Given the description of an element on the screen output the (x, y) to click on. 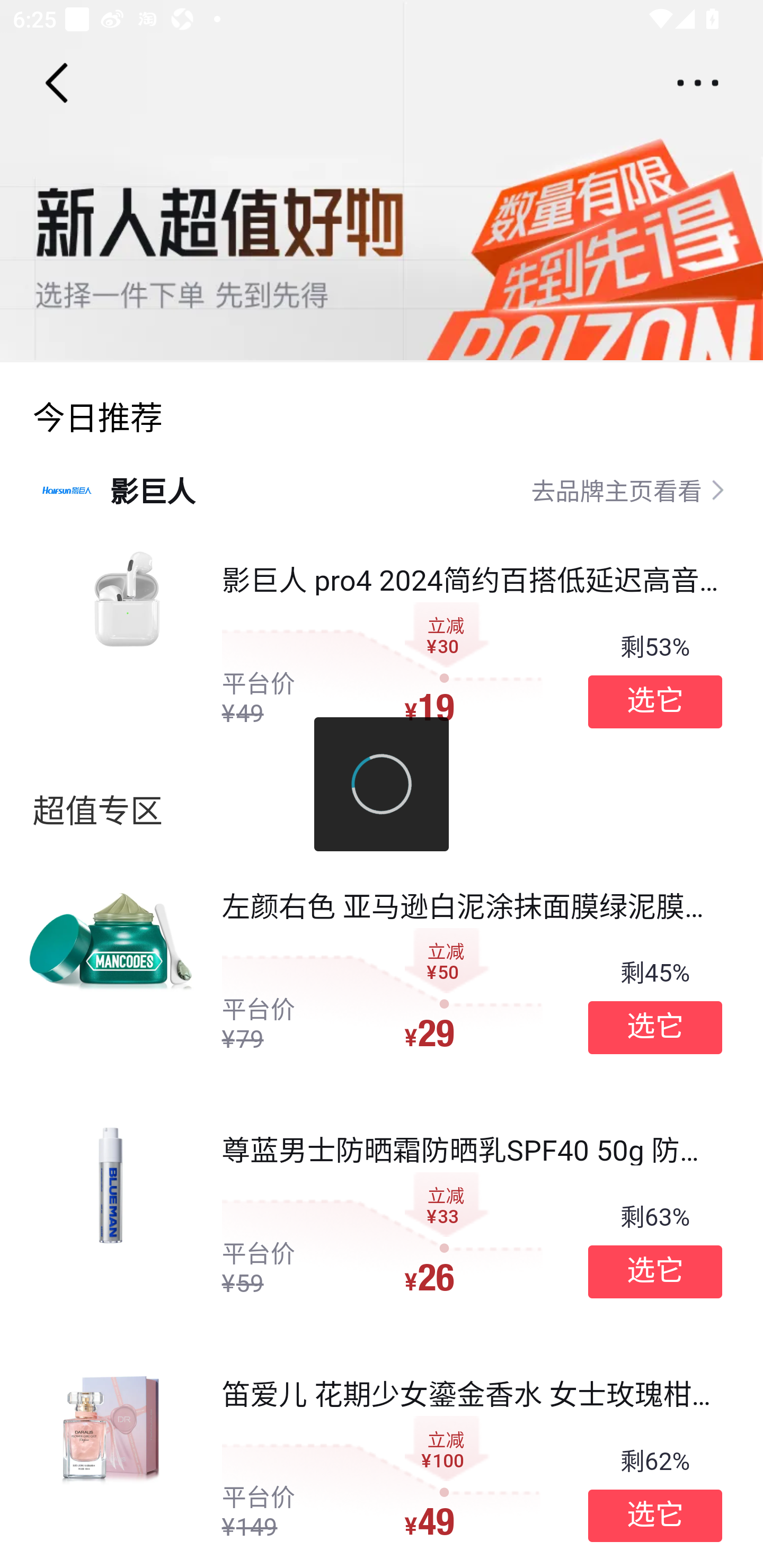
影巨人去品牌主页看看 (381, 489)
选它 (654, 701)
选它 (654, 1027)
选它 (654, 1271)
选它 (654, 1515)
